Given the description of an element on the screen output the (x, y) to click on. 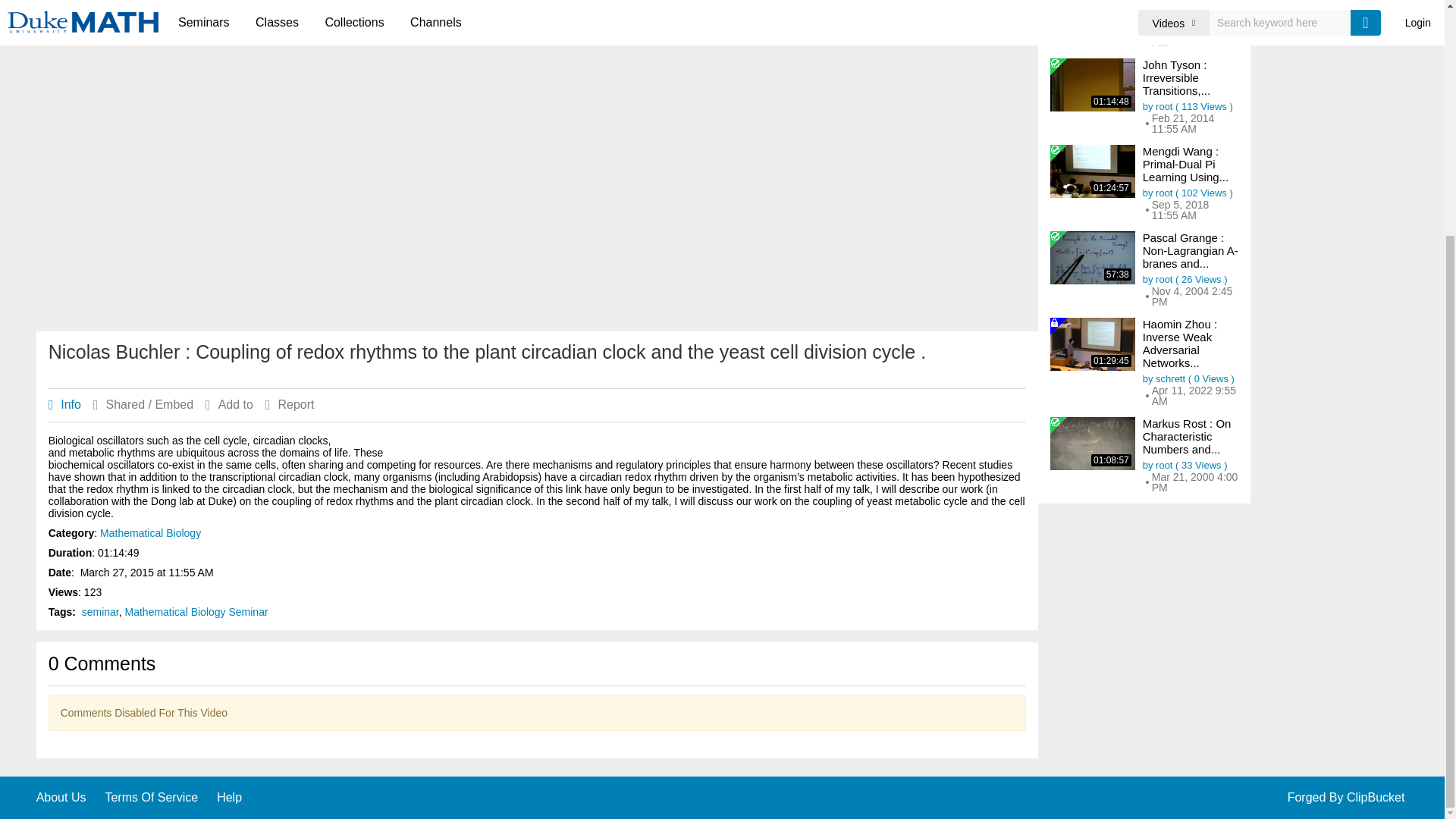
Mathematical Biology (150, 532)
Mathematical Biology Seminar (196, 612)
Add to (234, 405)
root (1164, 19)
seminar (100, 612)
01:14:45 (1092, 12)
Report (295, 405)
Info (70, 405)
01:14:48 (1092, 84)
Robert Pego : Scaling dynamics of solvable... (1186, 5)
